Given the description of an element on the screen output the (x, y) to click on. 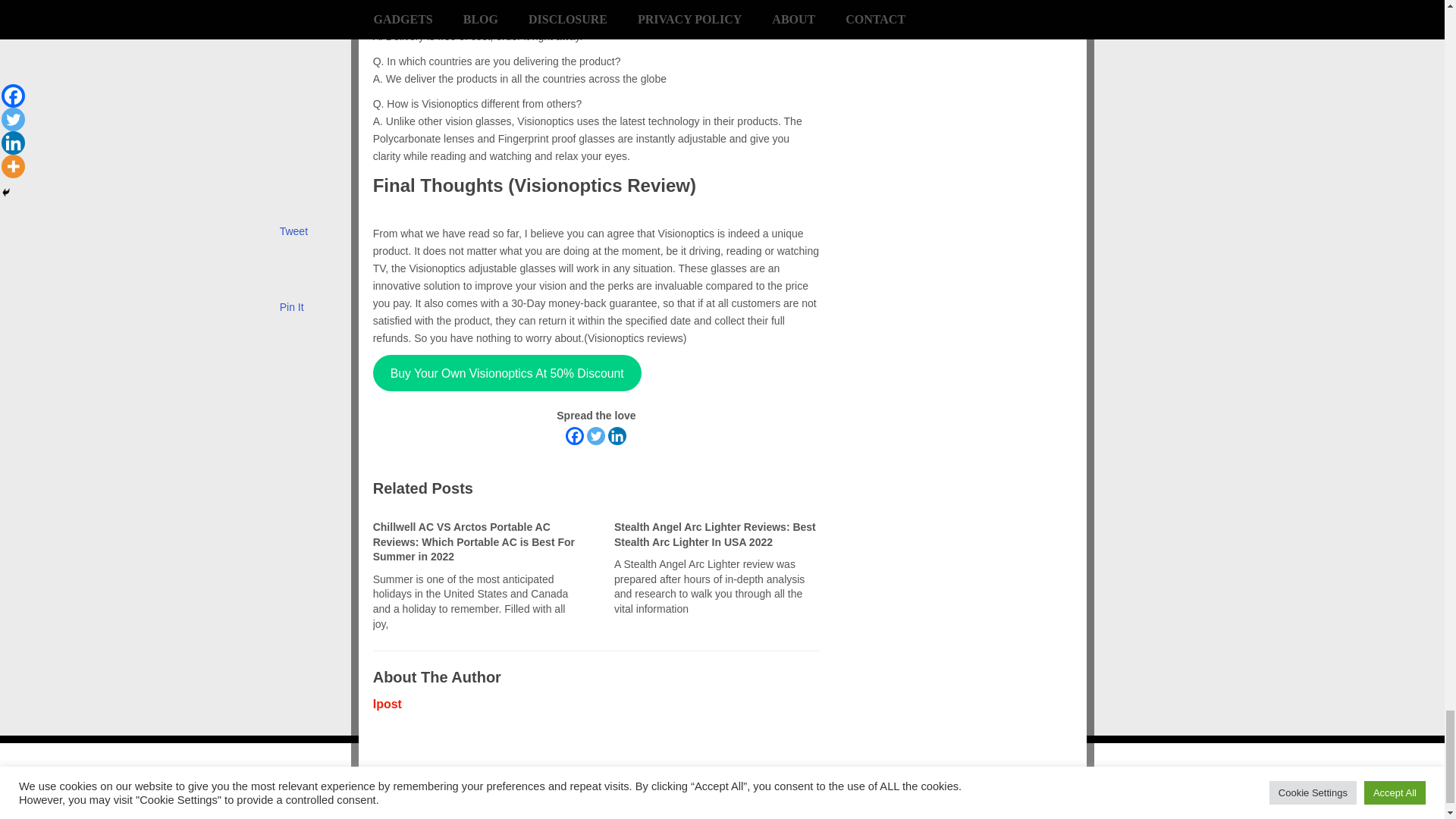
Facebook (574, 435)
Linkedin (617, 435)
Ipost (386, 703)
Twitter (595, 435)
